Given the description of an element on the screen output the (x, y) to click on. 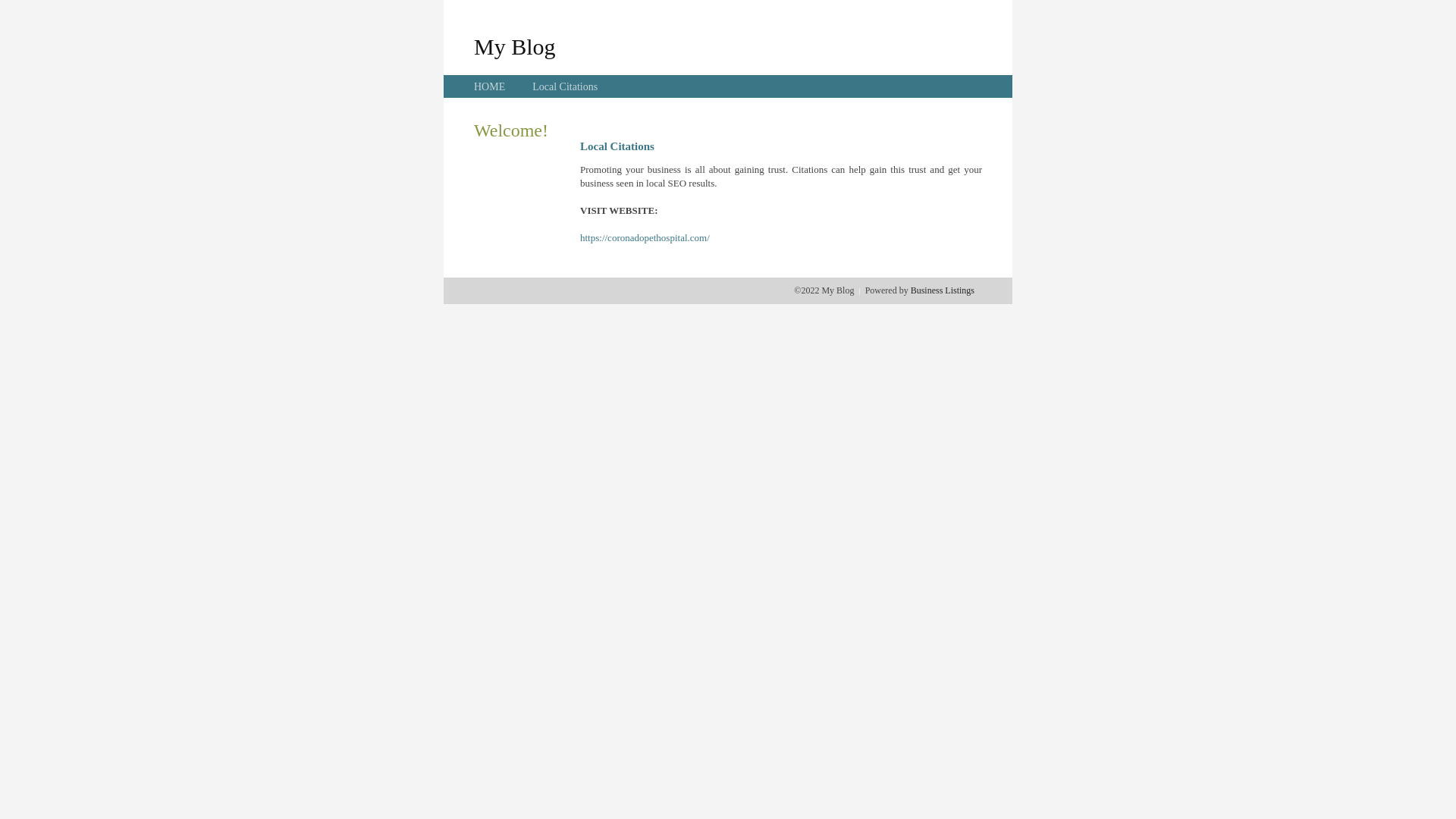
Business Listings Element type: text (942, 290)
https://coronadopethospital.com/ Element type: text (644, 237)
My Blog Element type: text (514, 46)
Local Citations Element type: text (564, 86)
HOME Element type: text (489, 86)
